Given the description of an element on the screen output the (x, y) to click on. 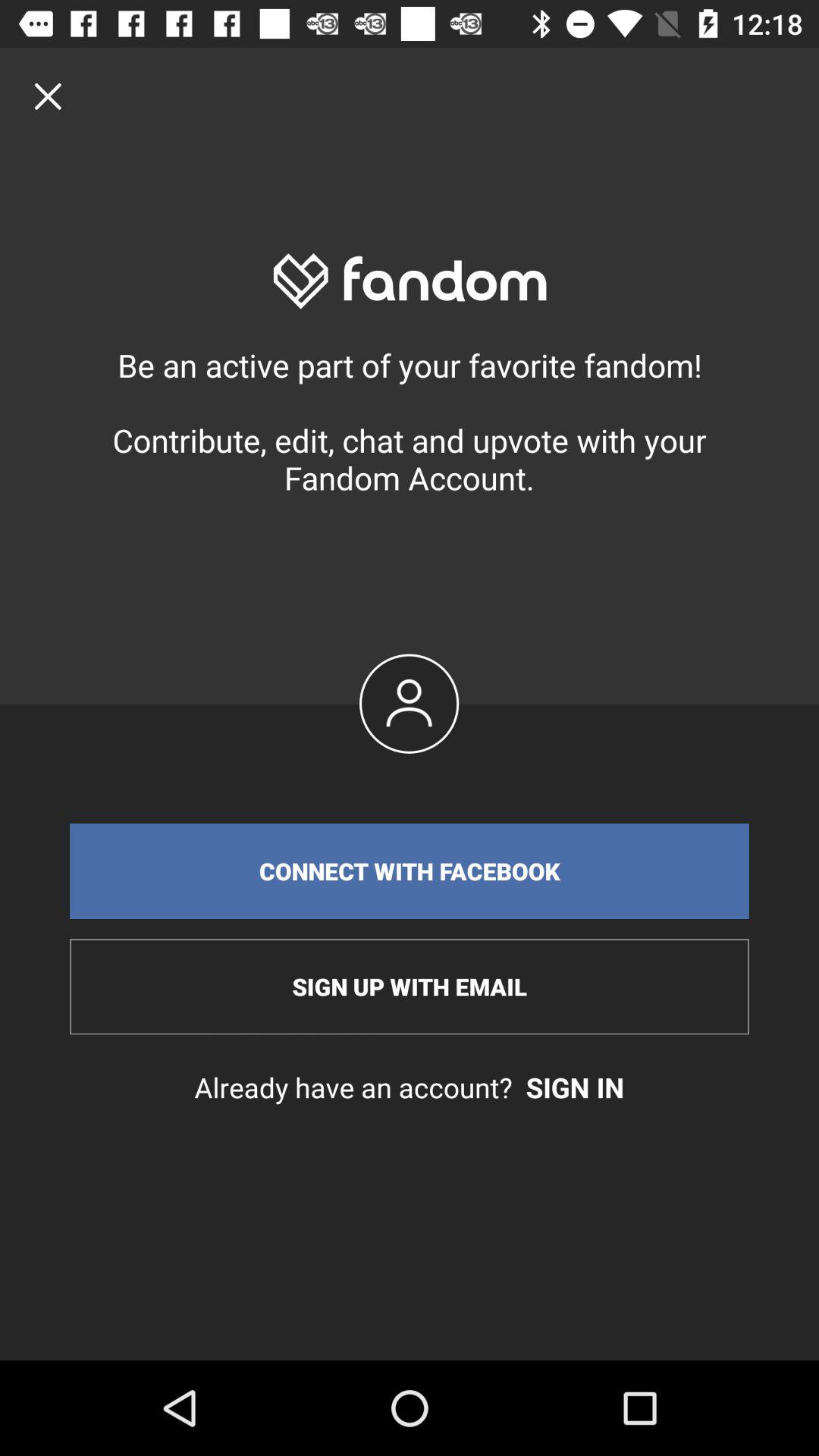
turn on item above already have an (409, 986)
